Given the description of an element on the screen output the (x, y) to click on. 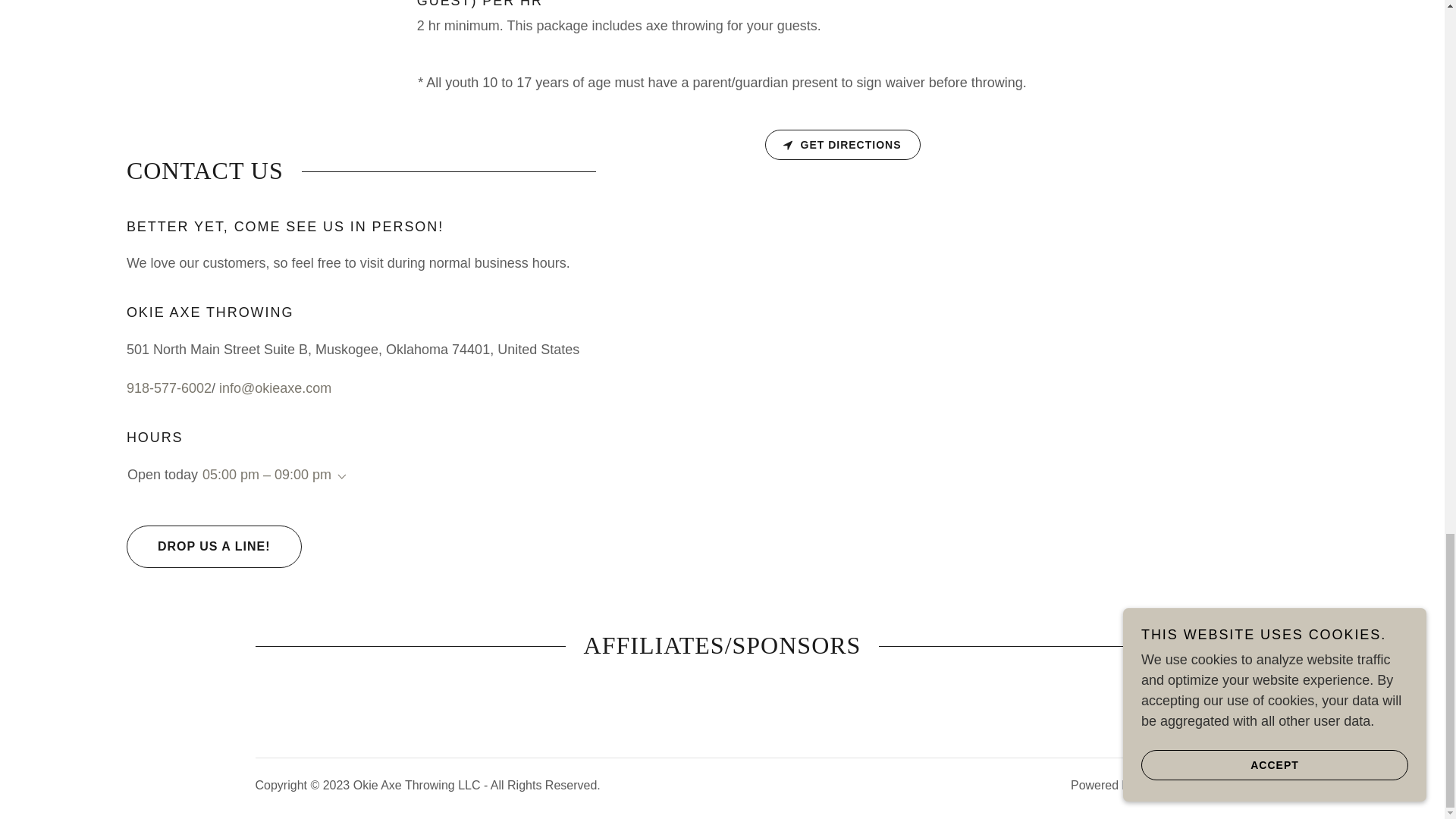
918-577-6002 (168, 387)
DROP US A LINE! (213, 546)
GoDaddy (1163, 784)
GET DIRECTIONS (842, 144)
